Given the description of an element on the screen output the (x, y) to click on. 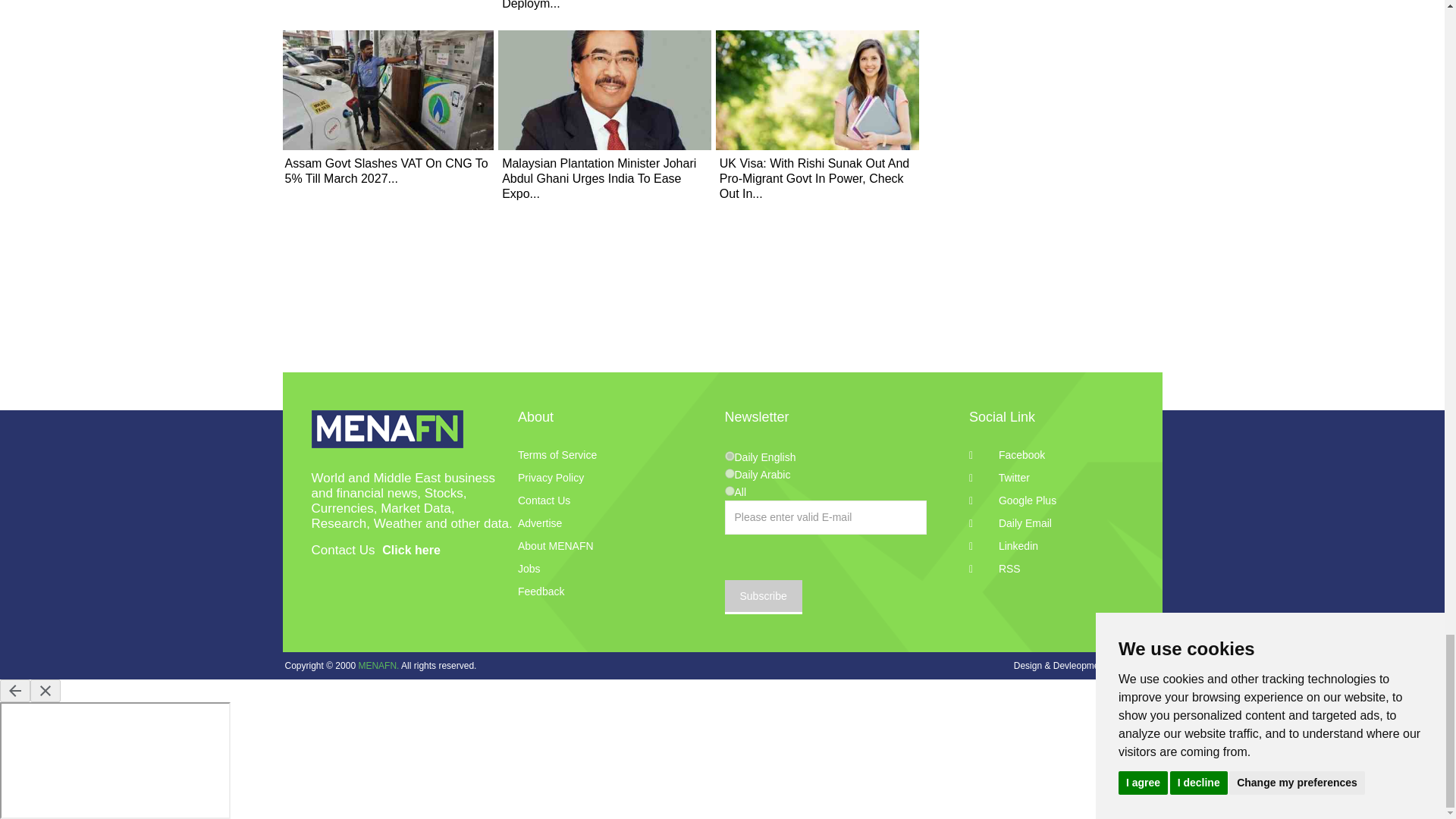
Advertisement (1047, 36)
Subscribe (763, 596)
